Given the description of an element on the screen output the (x, y) to click on. 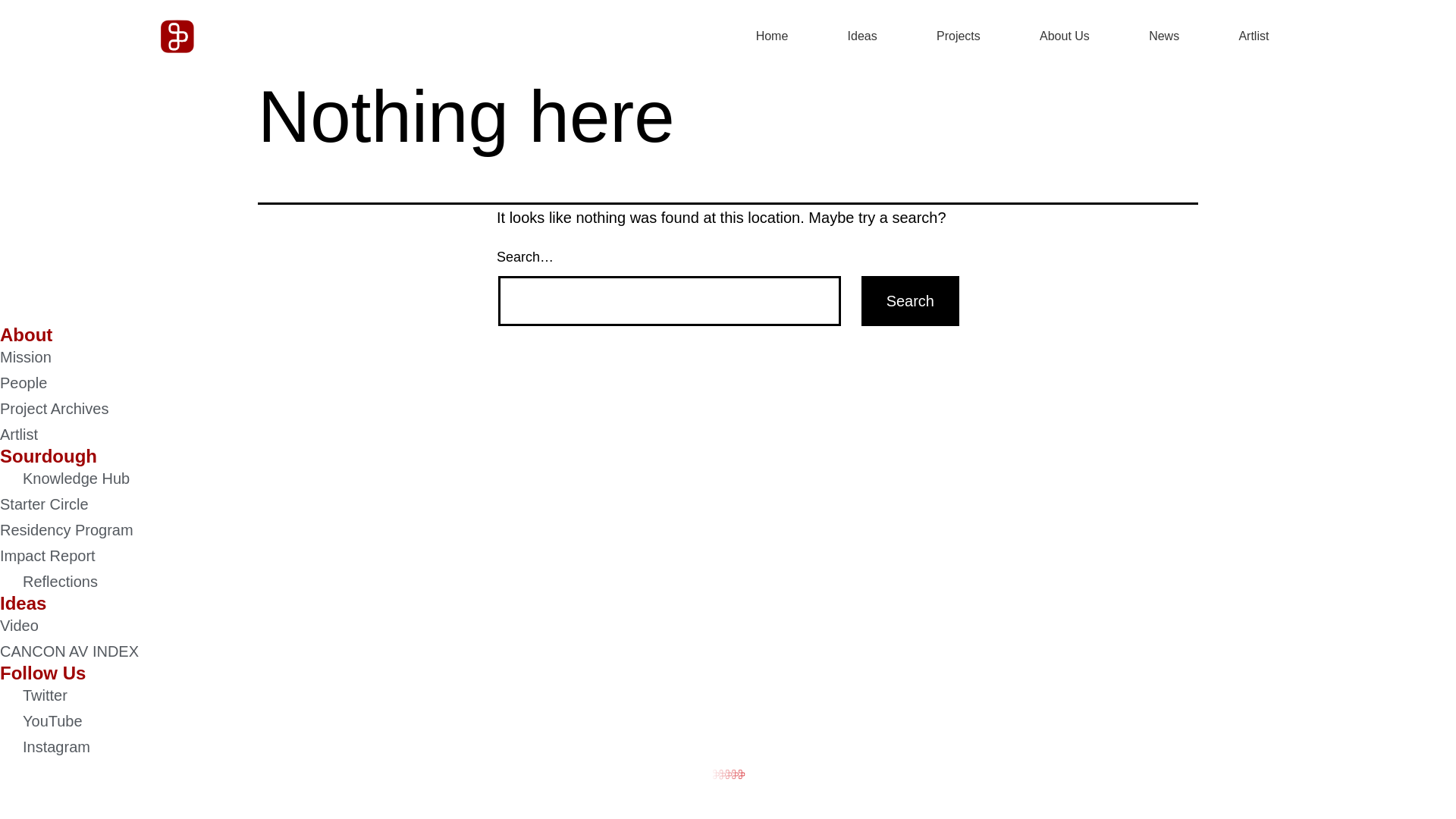
Search Element type: text (910, 301)
Ideas Element type: text (861, 35)
About Us Element type: text (1064, 35)
YouTube Element type: text (41, 721)
Instagram Element type: text (45, 746)
Twitter Element type: text (33, 695)
Projects Element type: text (957, 35)
Artengine Logo Element type: hover (177, 36)
Home Element type: text (771, 35)
Artlist Element type: text (1253, 35)
News Element type: text (1163, 35)
Sourdough Element type: text (48, 455)
